Given the description of an element on the screen output the (x, y) to click on. 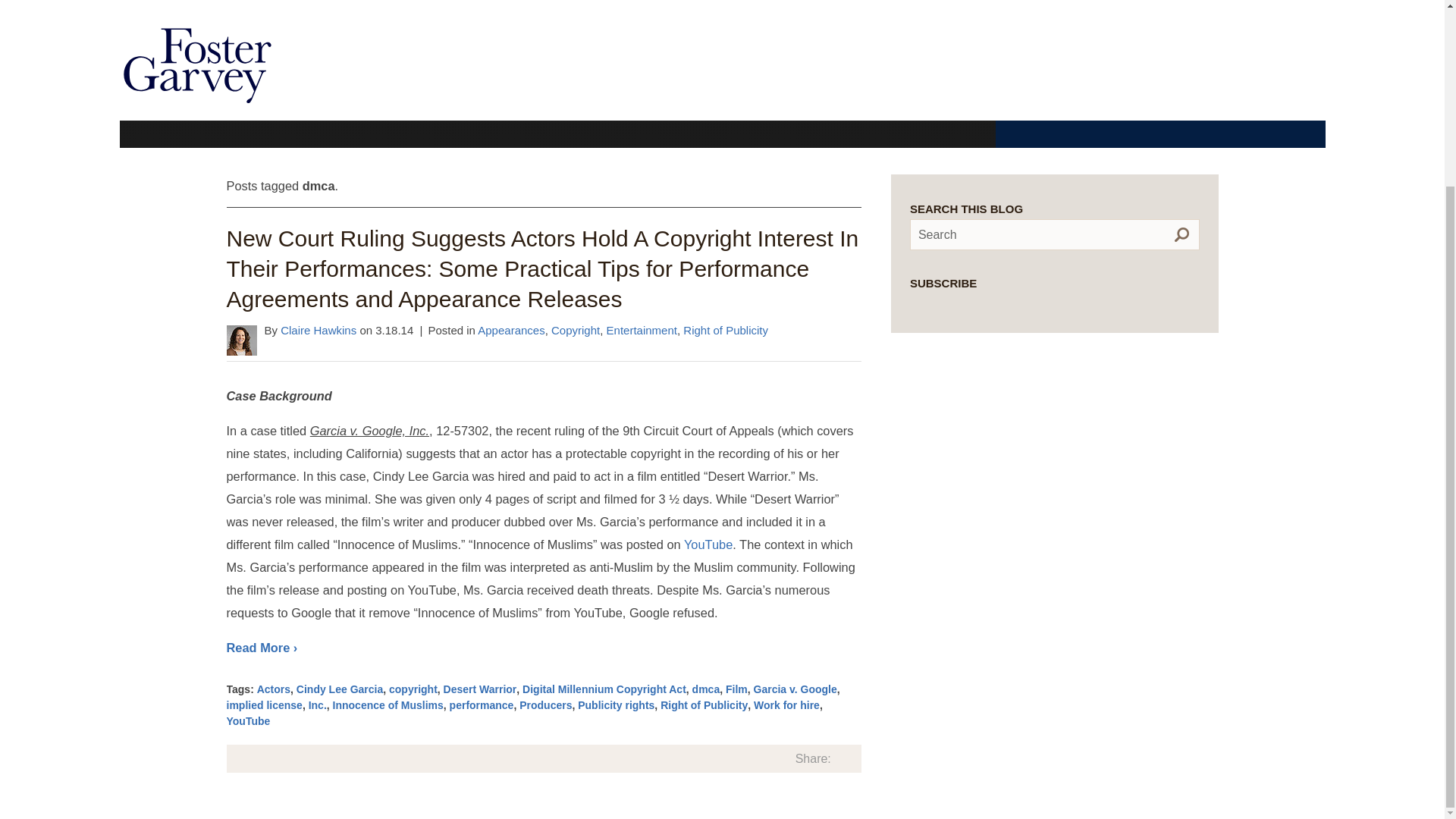
Film (736, 689)
Digital Millennium Copyright Act (603, 689)
Right of Publicity (704, 705)
implied license (263, 705)
Garcia v. Google (795, 689)
Innocence of Muslims (388, 705)
Desert Warrior (480, 689)
Inc. (317, 705)
YouTube (708, 544)
